Given the description of an element on the screen output the (x, y) to click on. 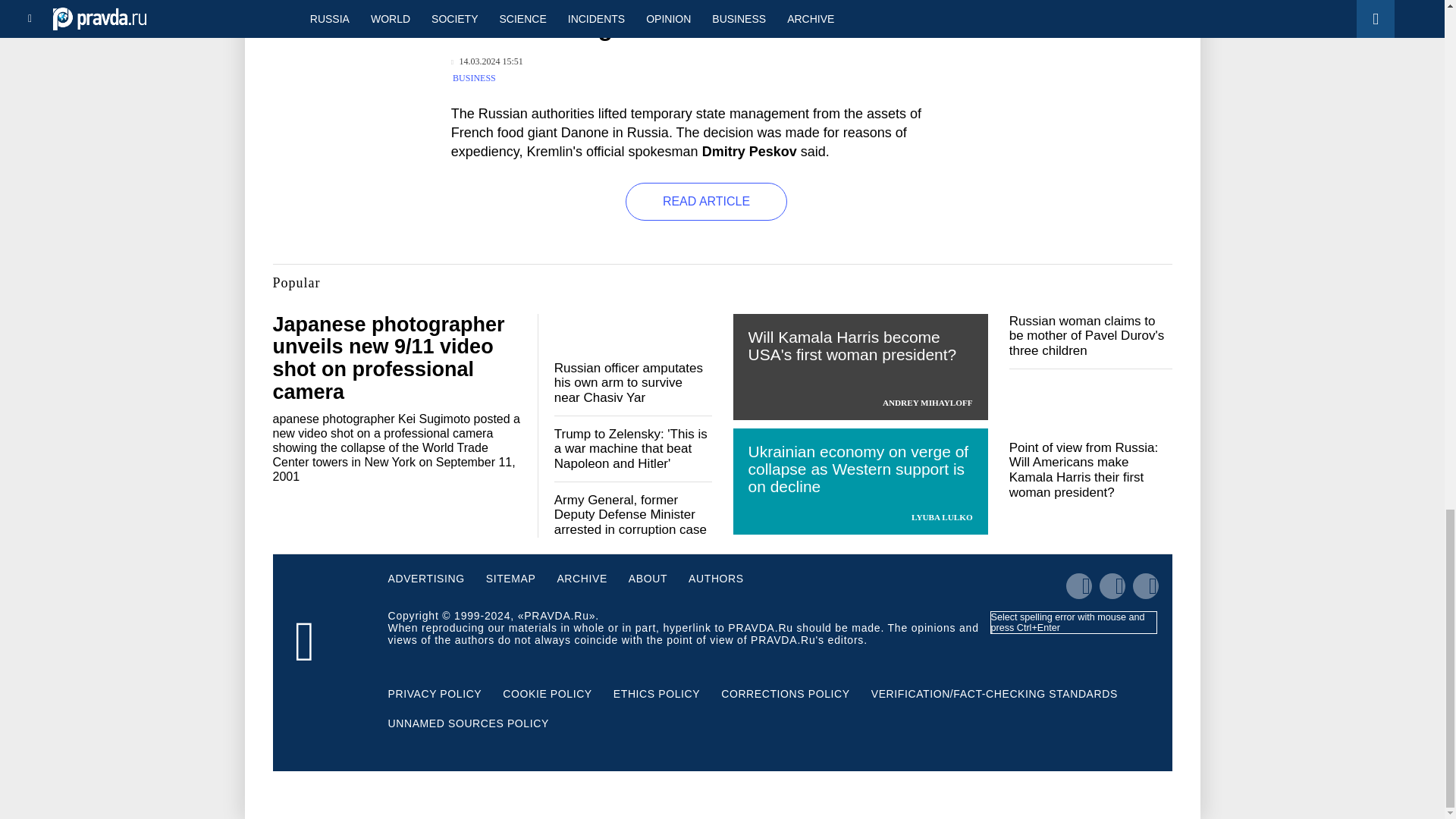
BUSINESS (474, 77)
Published (486, 61)
